Given the description of an element on the screen output the (x, y) to click on. 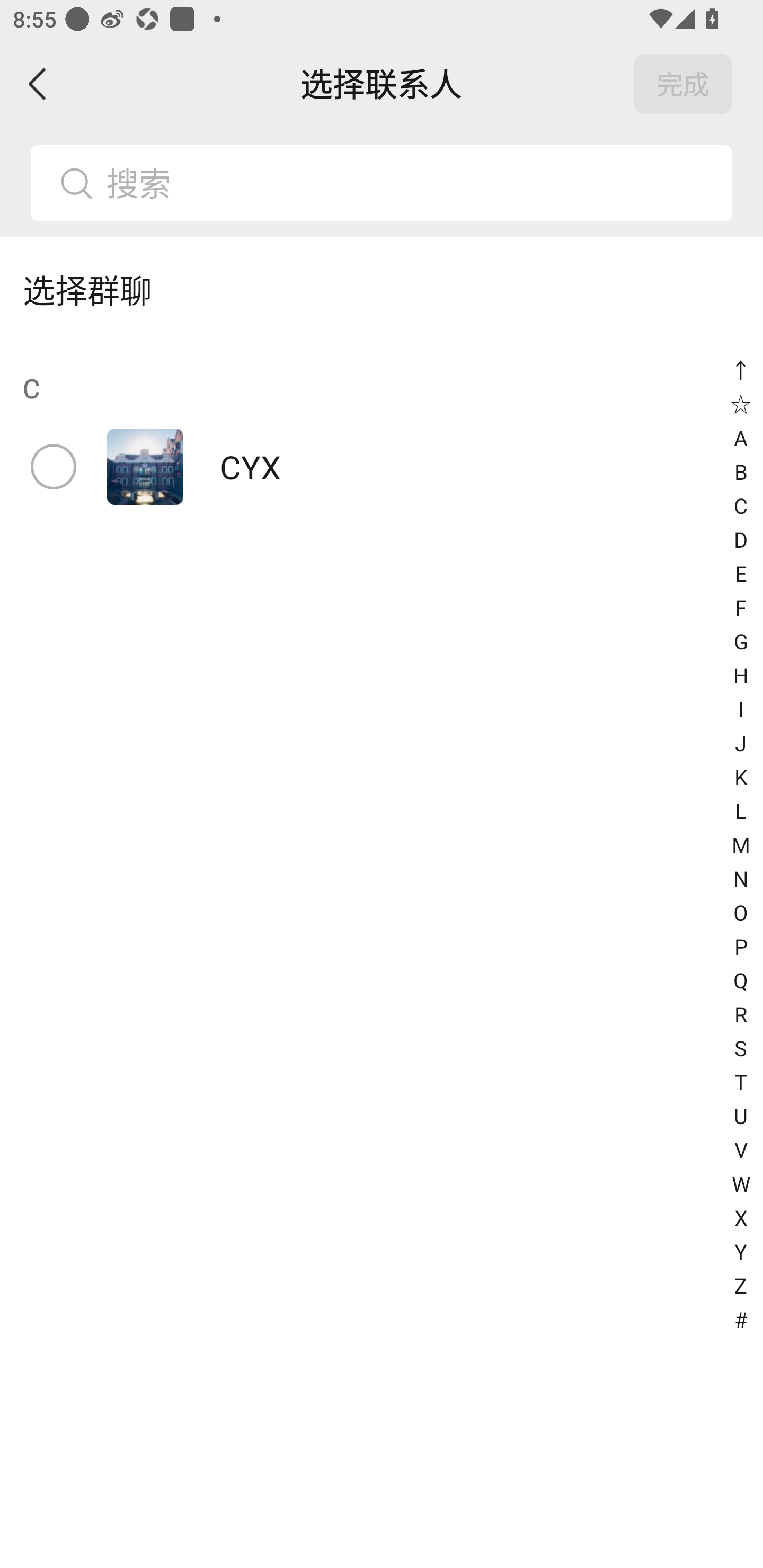
返回 (38, 83)
完成 (683, 83)
搜索 (381, 183)
搜索 (411, 183)
选择群聊 (381, 290)
C CYX (381, 432)
